Given the description of an element on the screen output the (x, y) to click on. 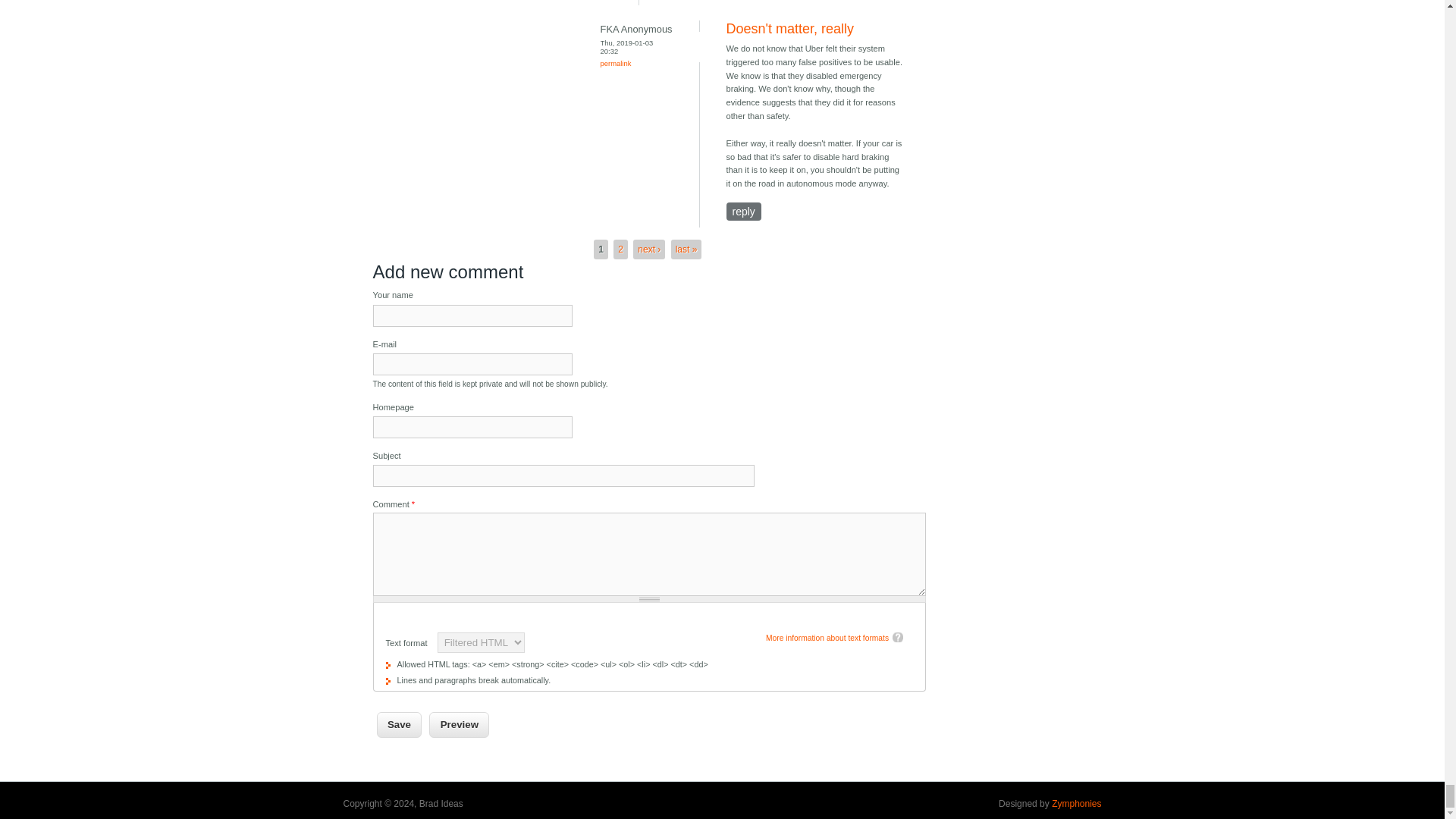
Preview (459, 724)
Save (399, 724)
